Given the description of an element on the screen output the (x, y) to click on. 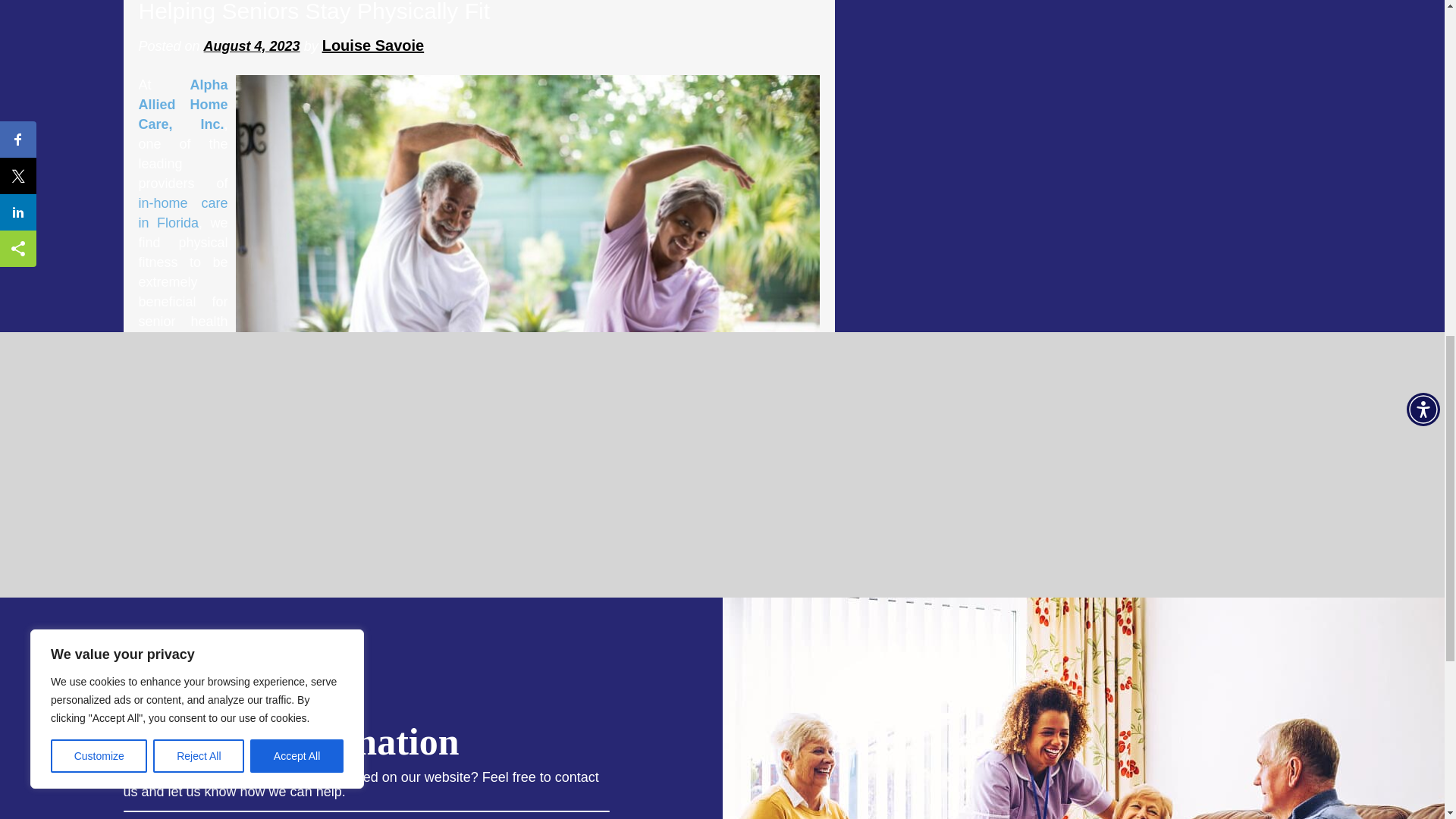
Louise Savoie (373, 45)
in-home care in Florida (182, 212)
8:26 am (251, 46)
August 4, 2023 (251, 46)
View all posts by Louise Savoie (373, 45)
